Given the description of an element on the screen output the (x, y) to click on. 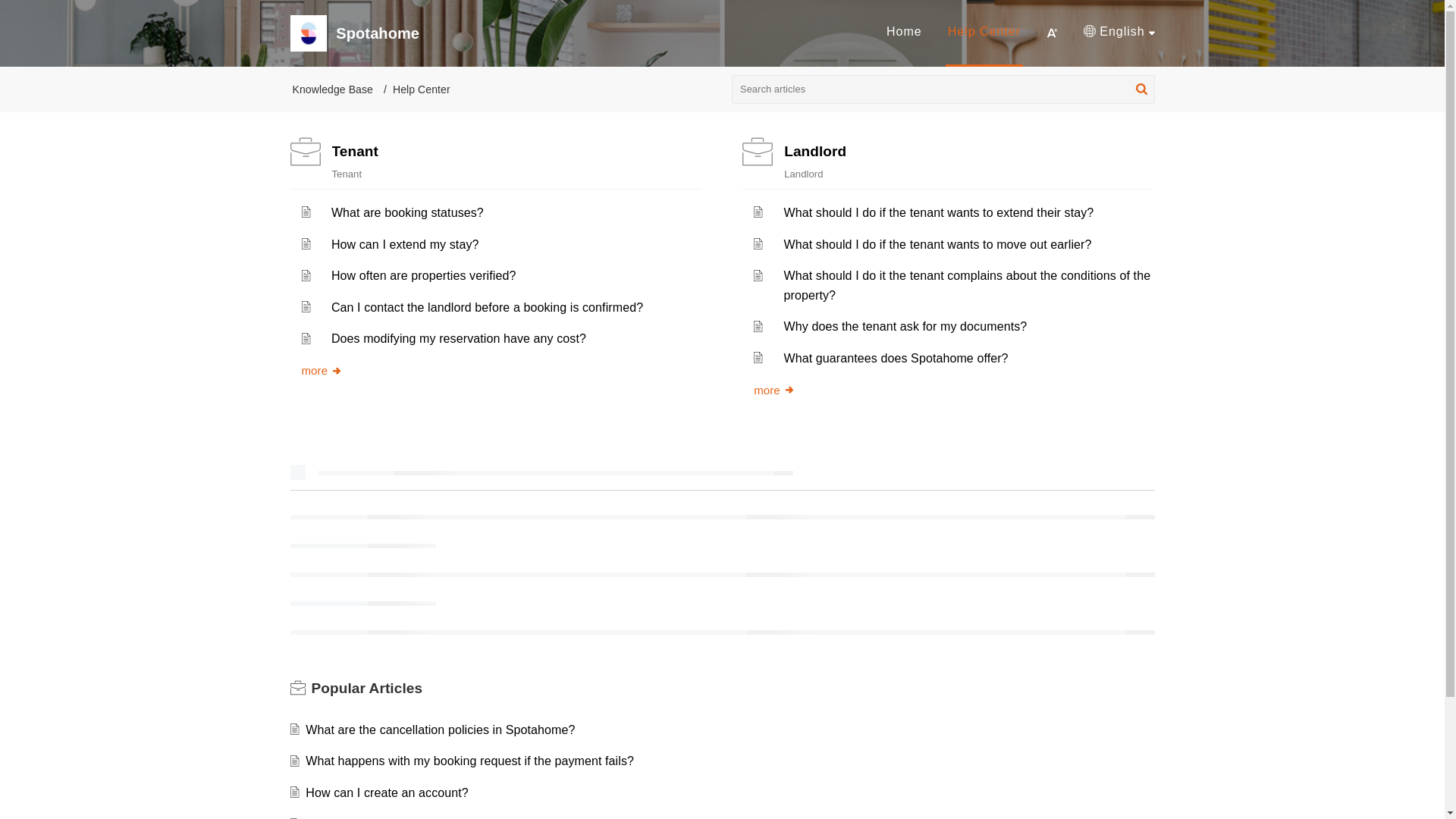
Knowledge Base (332, 89)
How often are properties verified? (423, 275)
What should I do if the tenant wants to move out earlier? (938, 244)
English (1118, 31)
What guarantees does Spotahome offer? (896, 358)
Home (903, 31)
How can I extend my stay? (405, 244)
Help Center (983, 33)
Does modifying my reservation have any cost? (458, 338)
more (774, 390)
Spotahome (604, 33)
How can I extend my stay? (405, 244)
What happens with my booking request if the payment fails? (469, 760)
How can I create an account? (386, 792)
